Given the description of an element on the screen output the (x, y) to click on. 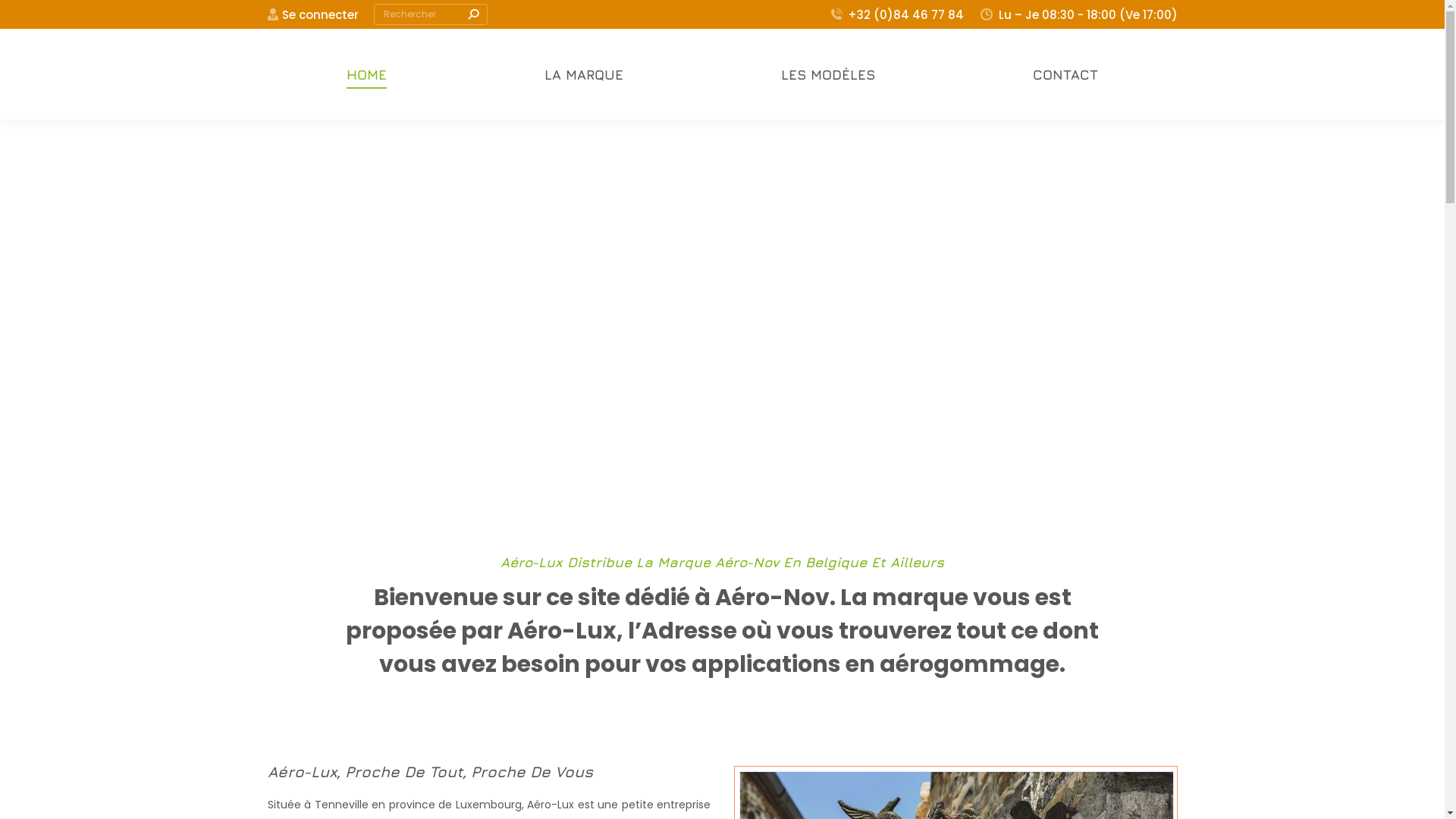
LA MARQUE Element type: text (583, 74)
Se connecter Element type: text (311, 13)
Search form Element type: hover (430, 14)
CONTACT Element type: text (1065, 74)
Aller ! Element type: text (29, 17)
HOME Element type: text (366, 74)
